Given the description of an element on the screen output the (x, y) to click on. 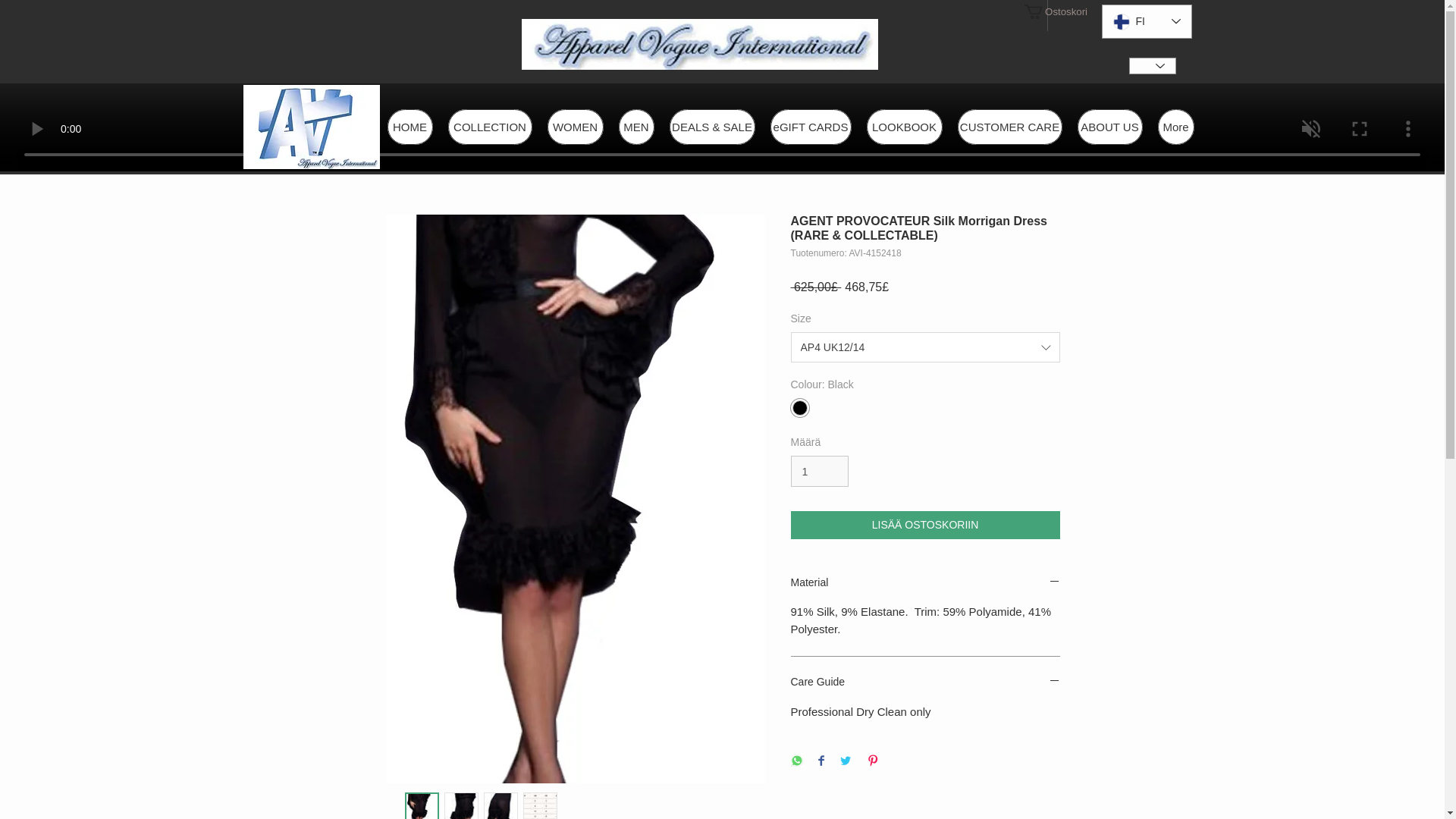
MEN (635, 126)
CUSTOMER CARE (1008, 126)
HOME (409, 126)
Embedded Content (1145, 22)
LOOKBOOK (904, 126)
ABOUT US (1109, 126)
Ostoskori (1050, 11)
eGIFT CARDS (810, 126)
WOMEN (575, 126)
Ostoskori (1050, 11)
